Given the description of an element on the screen output the (x, y) to click on. 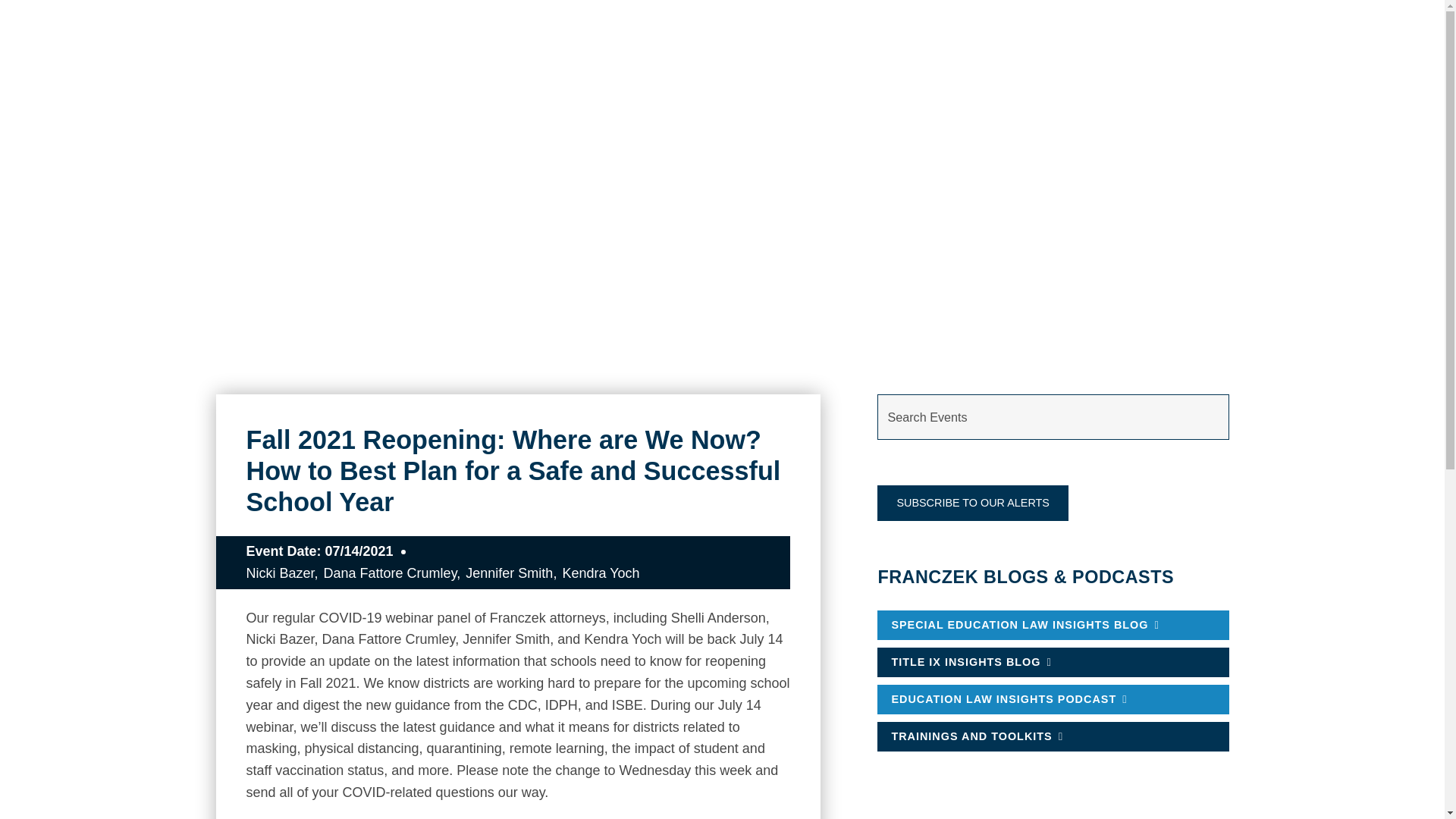
Jennifer Smith (510, 572)
SUBSCRIBE TO OUR ALERTS (972, 502)
Dana Fattore Crumley (392, 572)
Kendra Yoch (600, 572)
Nicki Bazer (281, 572)
